Given the description of an element on the screen output the (x, y) to click on. 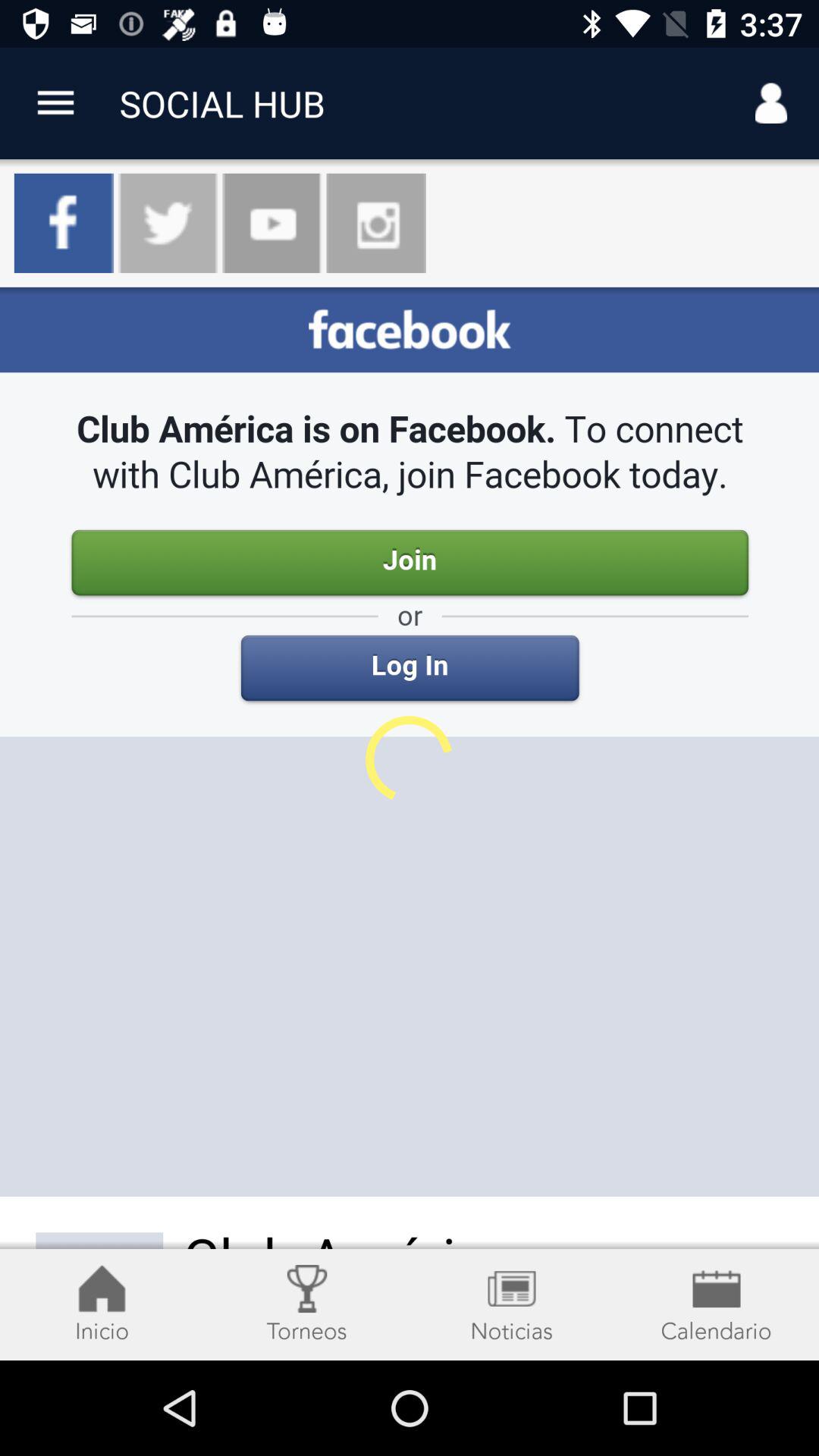
facebook login pages (409, 823)
